Given the description of an element on the screen output the (x, y) to click on. 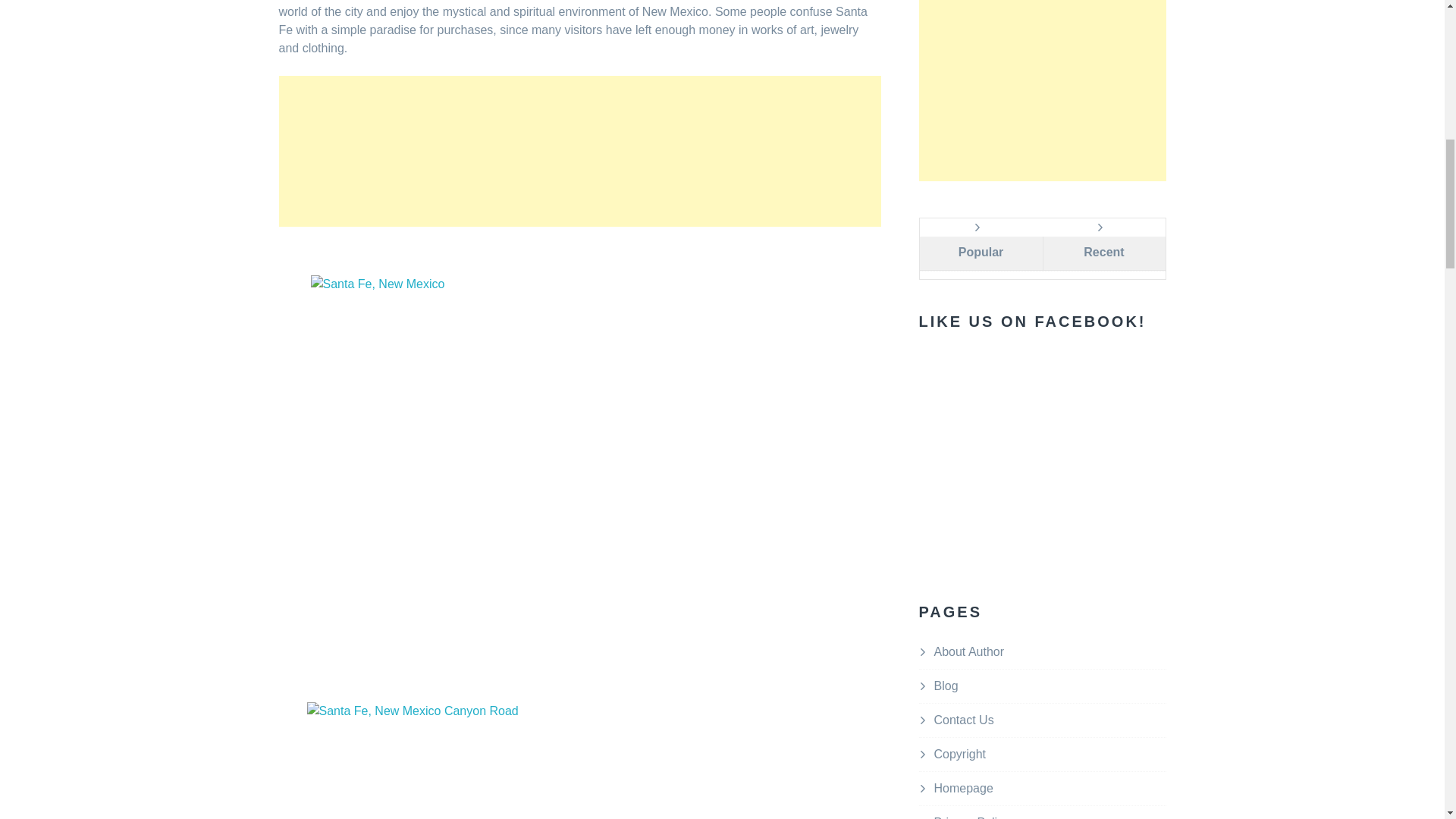
Privacy Policy (972, 817)
About Author (969, 651)
Homepage (963, 788)
Recent (1103, 253)
Copyright (959, 753)
Blog (946, 685)
Popular (980, 253)
Contact Us (964, 719)
